Given the description of an element on the screen output the (x, y) to click on. 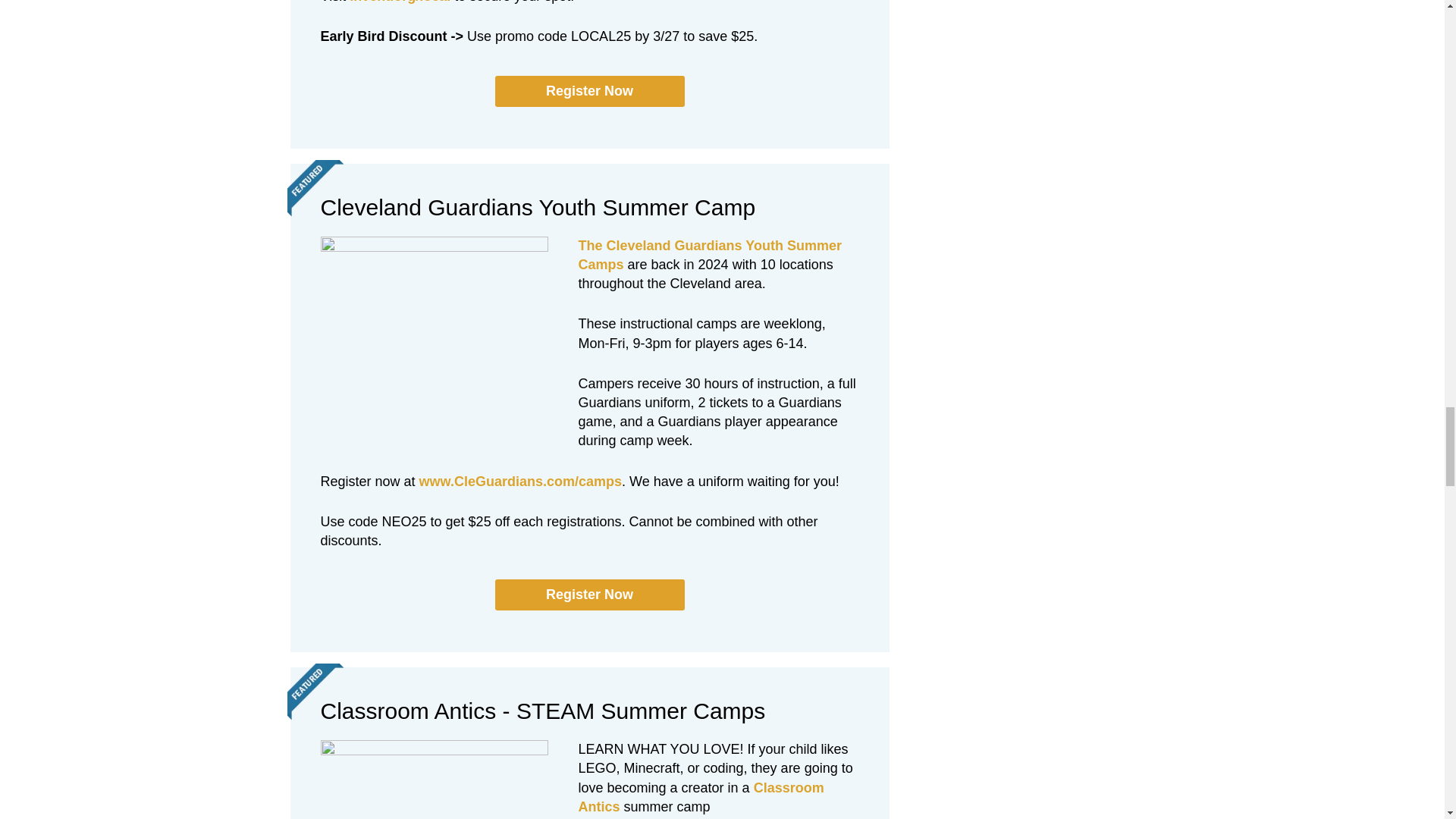
Register Now (589, 91)
The Cleveland Guardians Youth Summer Camps (709, 254)
